Given the description of an element on the screen output the (x, y) to click on. 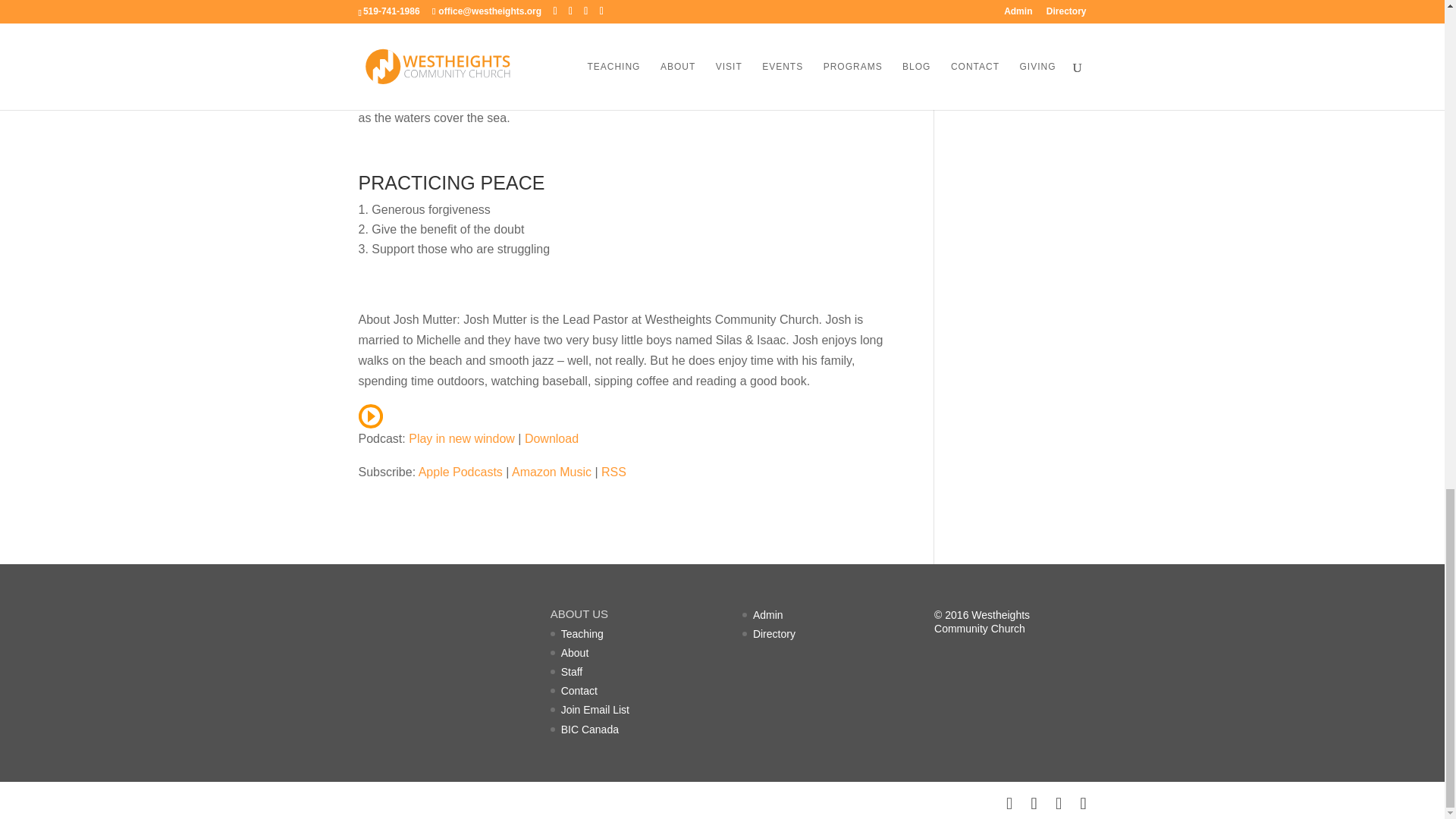
Play (369, 417)
RSS (613, 472)
Subscribe via RSS (613, 472)
Play in new window (462, 438)
Play (369, 416)
Apple Podcasts (460, 472)
Subscribe on Amazon Music (551, 472)
Download (551, 438)
Subscribe on Apple Podcasts (460, 472)
Play in new window (462, 438)
Download (551, 438)
Amazon Music (551, 472)
